Given the description of an element on the screen output the (x, y) to click on. 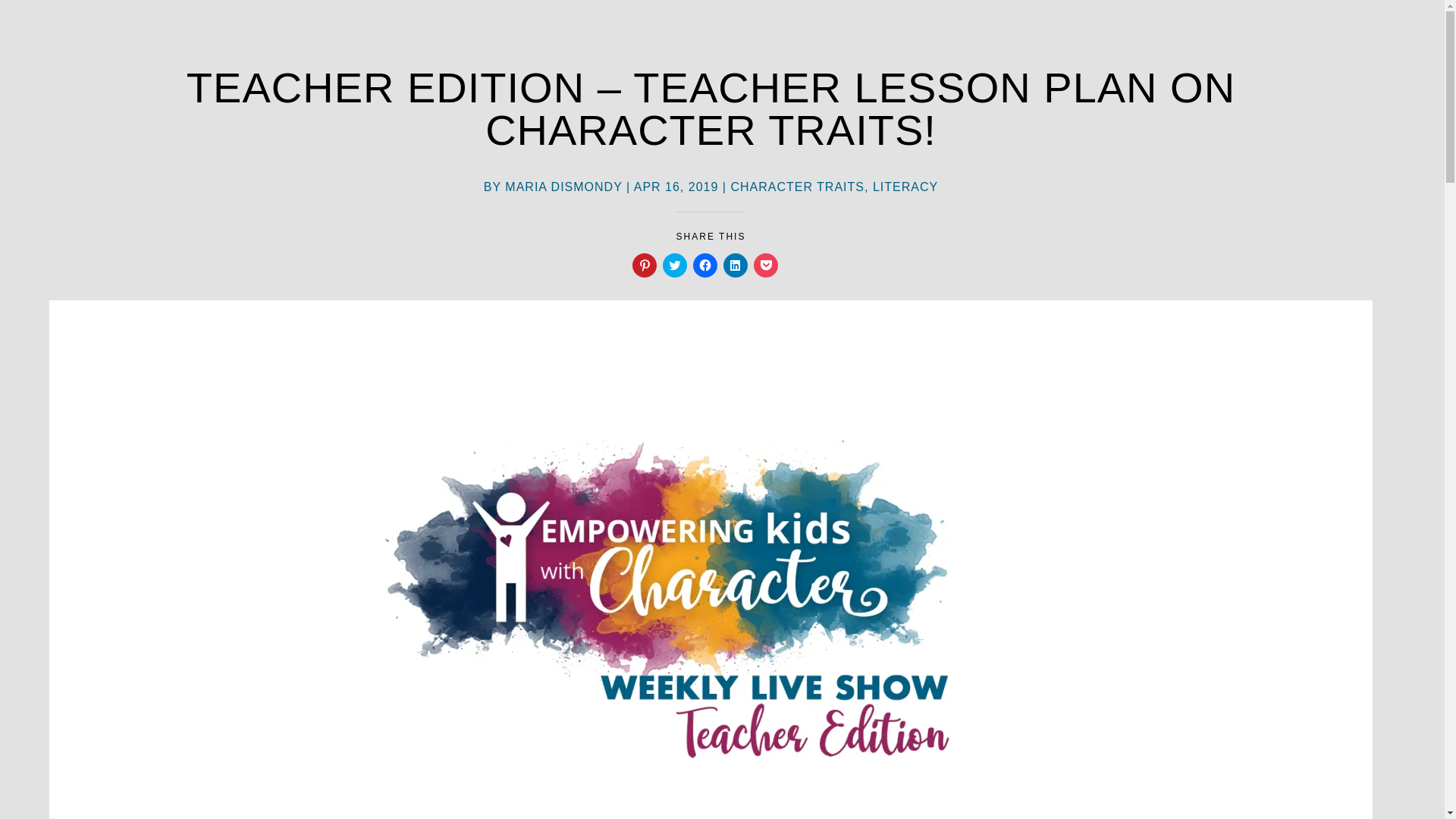
LITERACY (904, 186)
Click to share on Facebook (705, 265)
Click to share on LinkedIn (735, 265)
Click to share on Pocket (765, 265)
Posts by Maria Dismondy (563, 186)
CHARACTER TRAITS (797, 186)
Click to share on Pinterest (643, 265)
Click to share on Twitter (674, 265)
MARIA DISMONDY (563, 186)
